Given the description of an element on the screen output the (x, y) to click on. 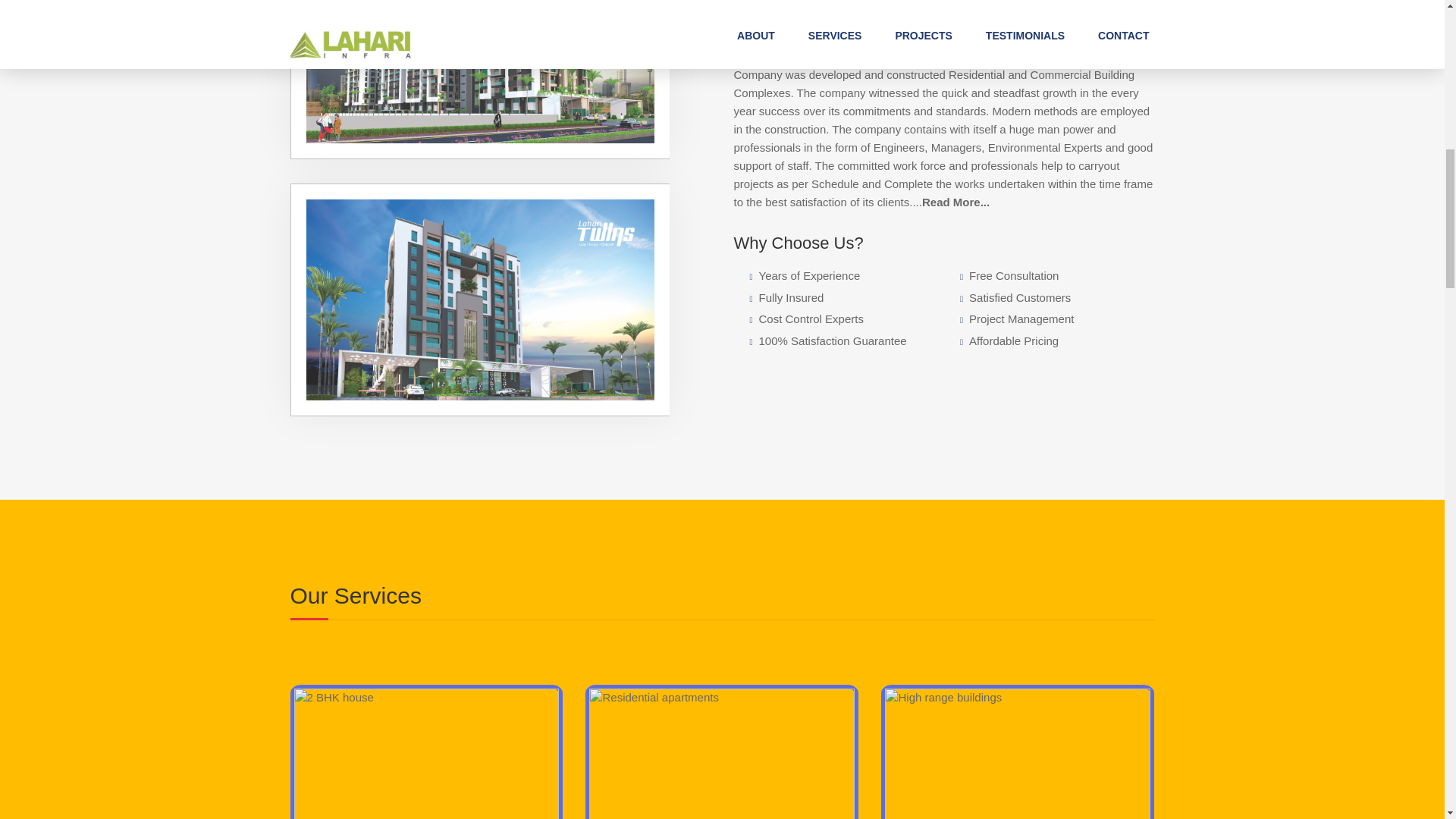
High range buildings (1017, 753)
Residential apartments  (721, 753)
2 BHK house  (426, 753)
Read More... (955, 201)
